Given the description of an element on the screen output the (x, y) to click on. 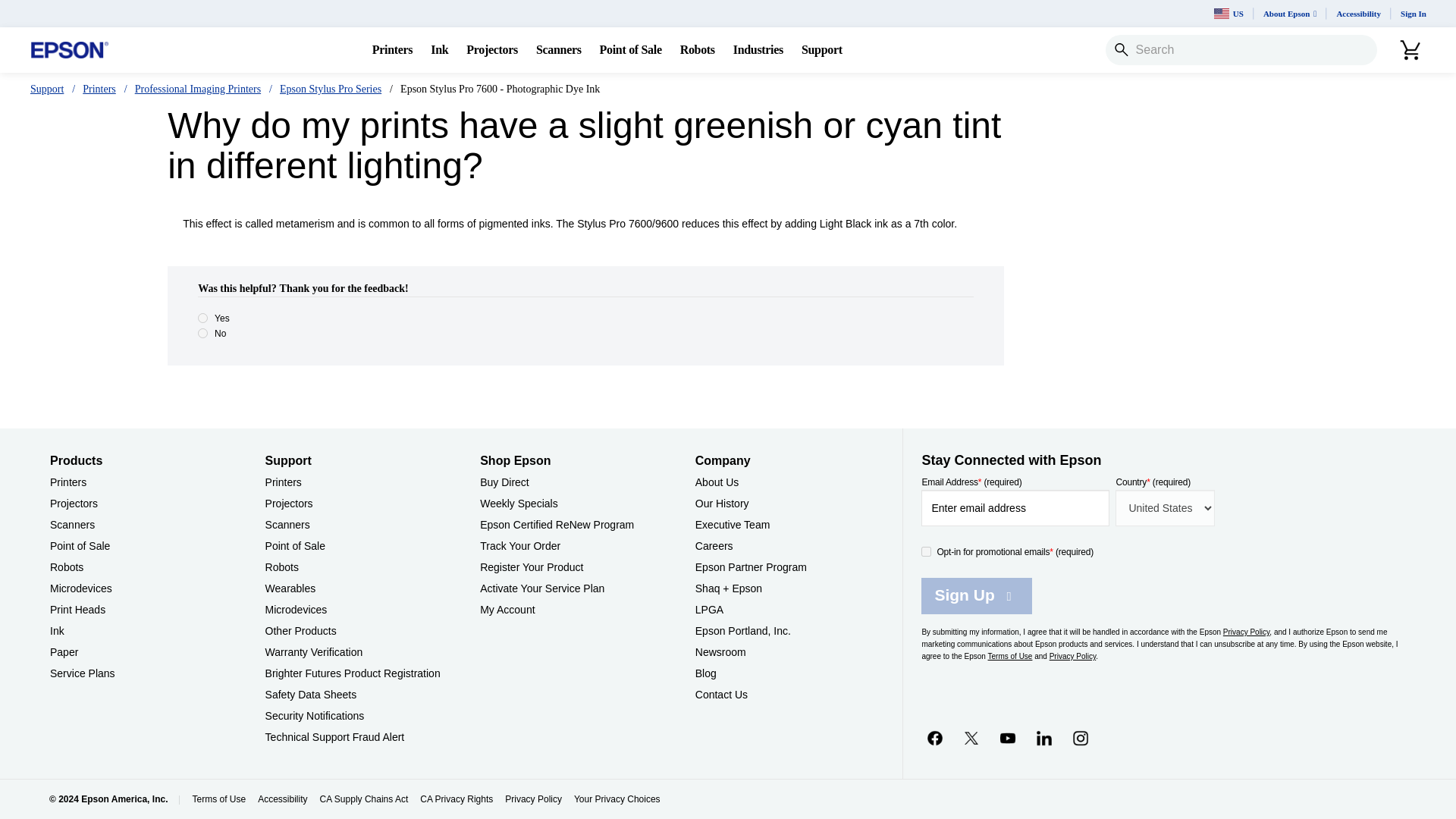
About Epson (1288, 13)
yes (203, 317)
Sign In (1413, 13)
US (1228, 13)
Accessibility (1358, 13)
Accessibility (1358, 13)
Epson Logo (69, 49)
no (203, 333)
on (926, 551)
US (1228, 13)
